Given the description of an element on the screen output the (x, y) to click on. 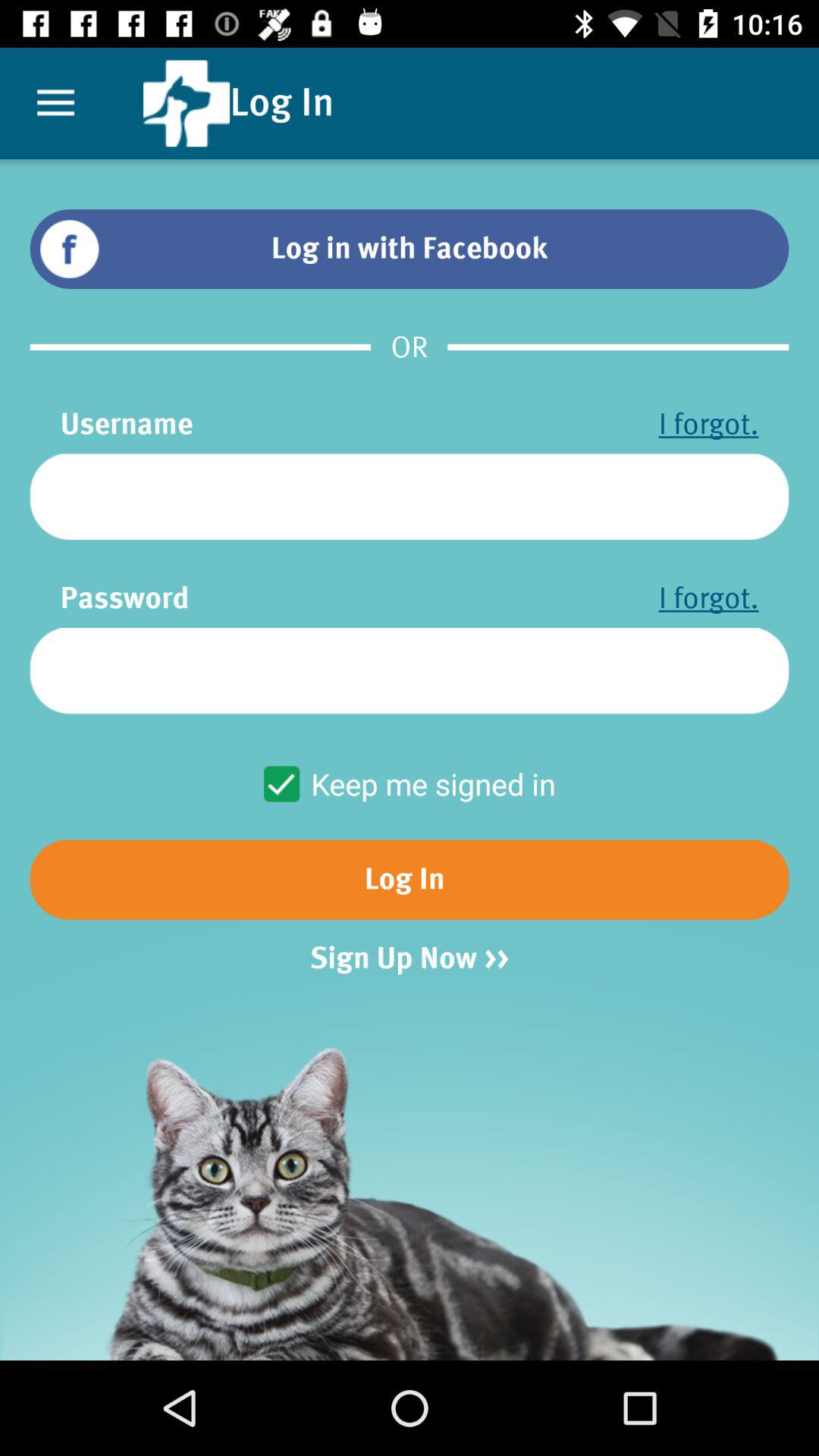
select username field (409, 496)
